Given the description of an element on the screen output the (x, y) to click on. 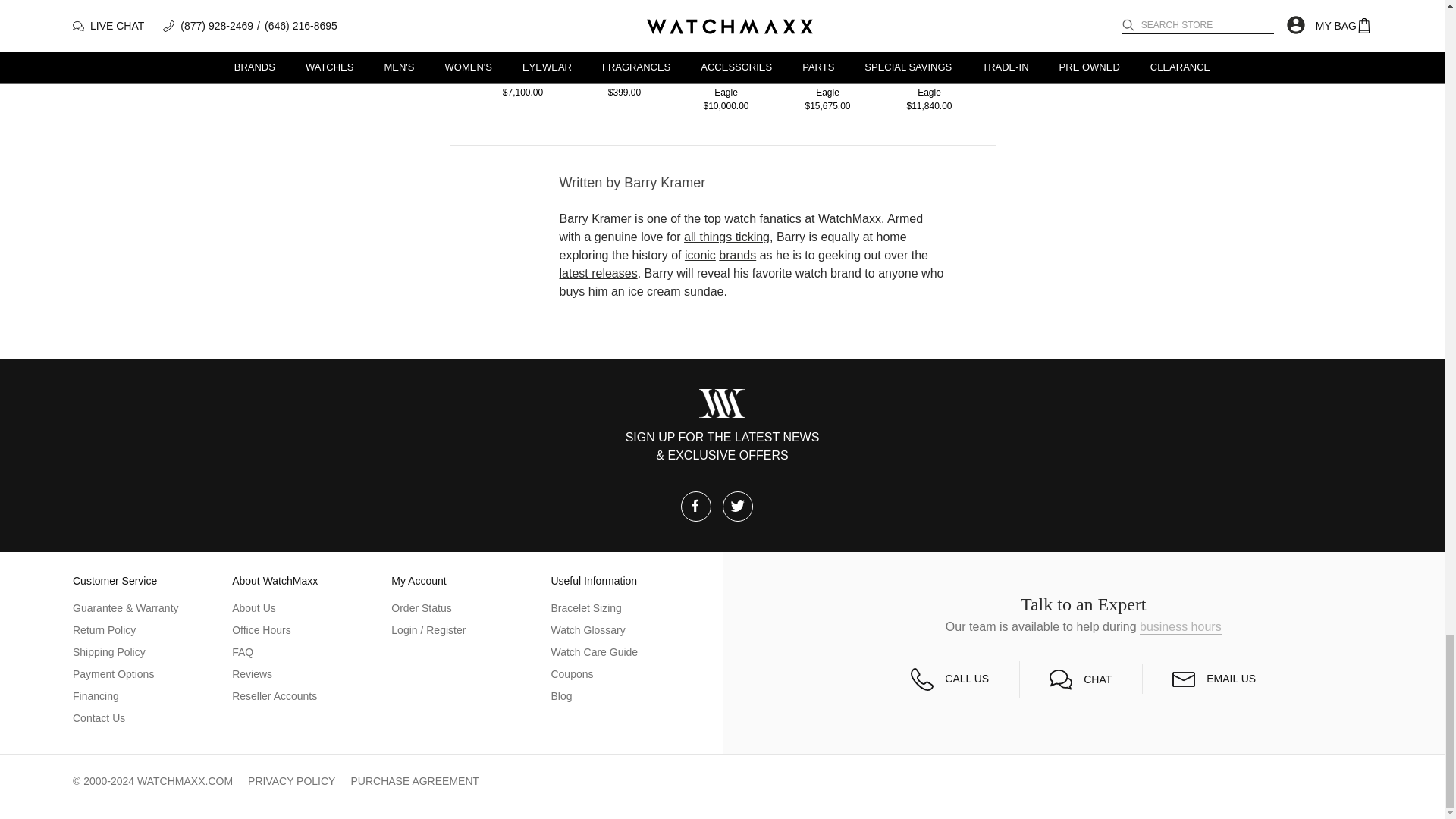
brands (737, 255)
298600-3001 (929, 32)
latest releases (598, 273)
all things ticking (727, 237)
iconic (700, 255)
